Given the description of an element on the screen output the (x, y) to click on. 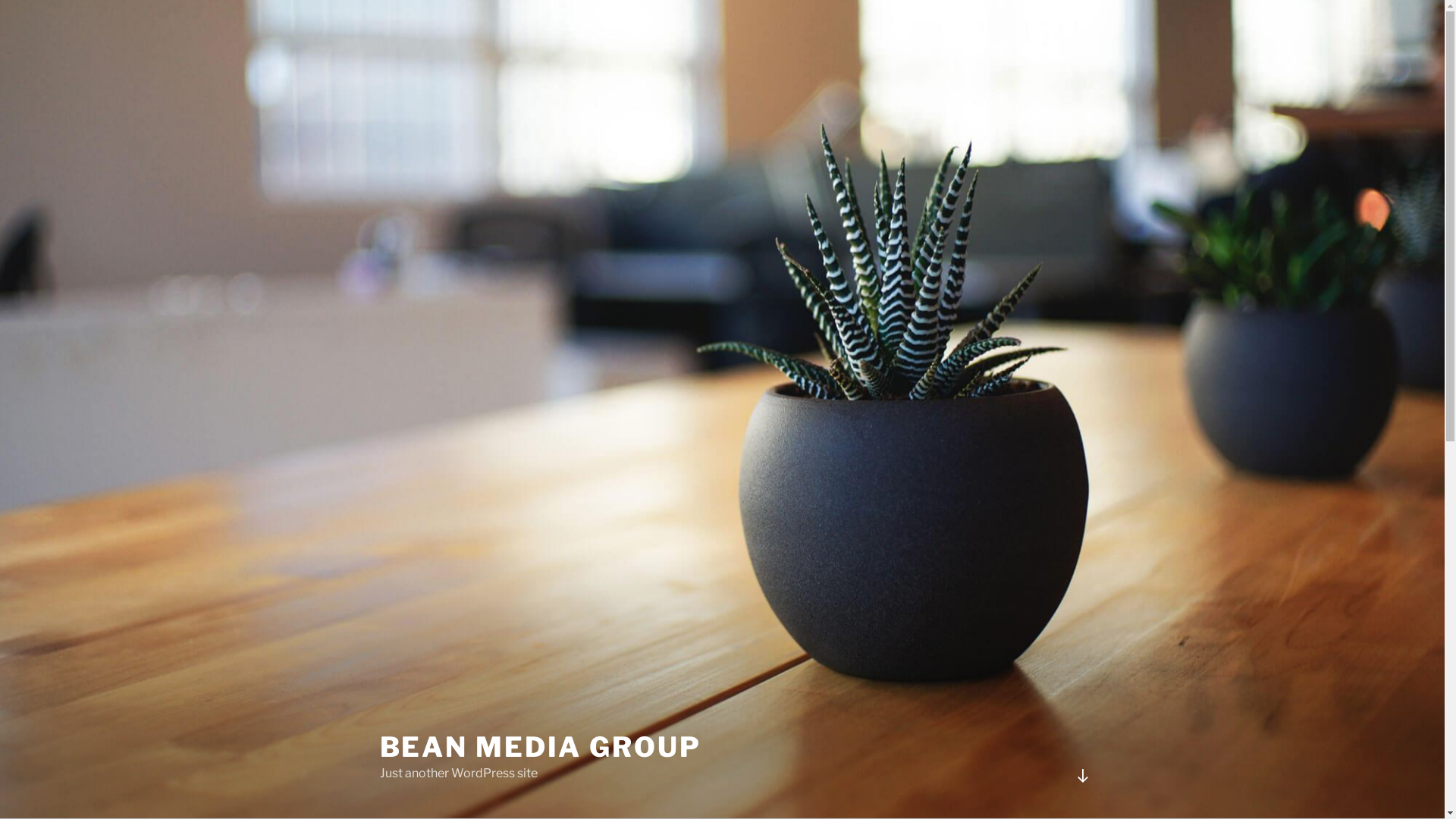
Scroll down to content Element type: text (1082, 775)
BEAN MEDIA GROUP Element type: text (539, 746)
